Given the description of an element on the screen output the (x, y) to click on. 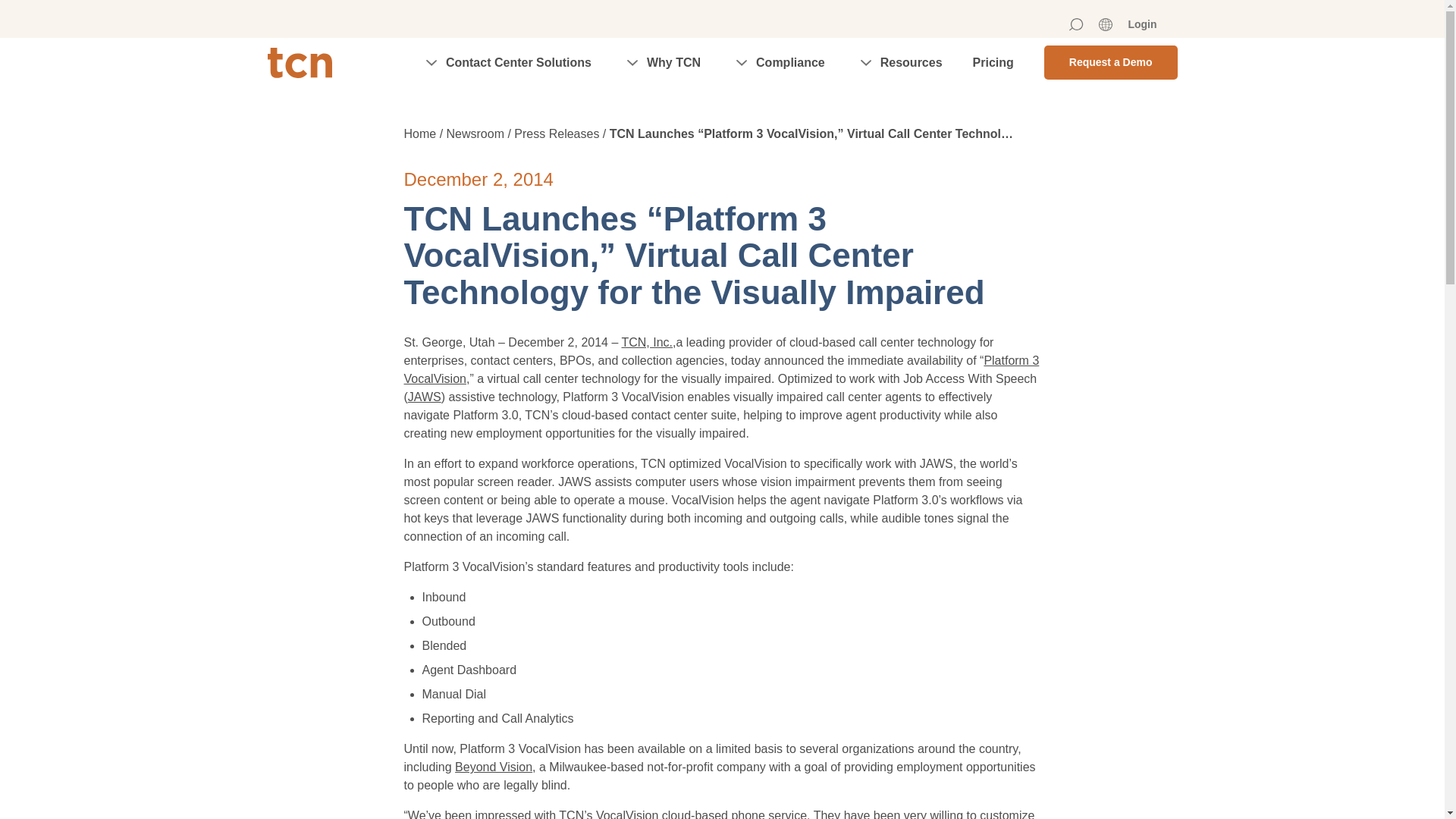
VocalVision (721, 368)
Login (1141, 24)
Why TCN (661, 61)
Contact Center Solutions (506, 61)
Region (1105, 24)
TCN (298, 61)
Home (646, 341)
